Given the description of an element on the screen output the (x, y) to click on. 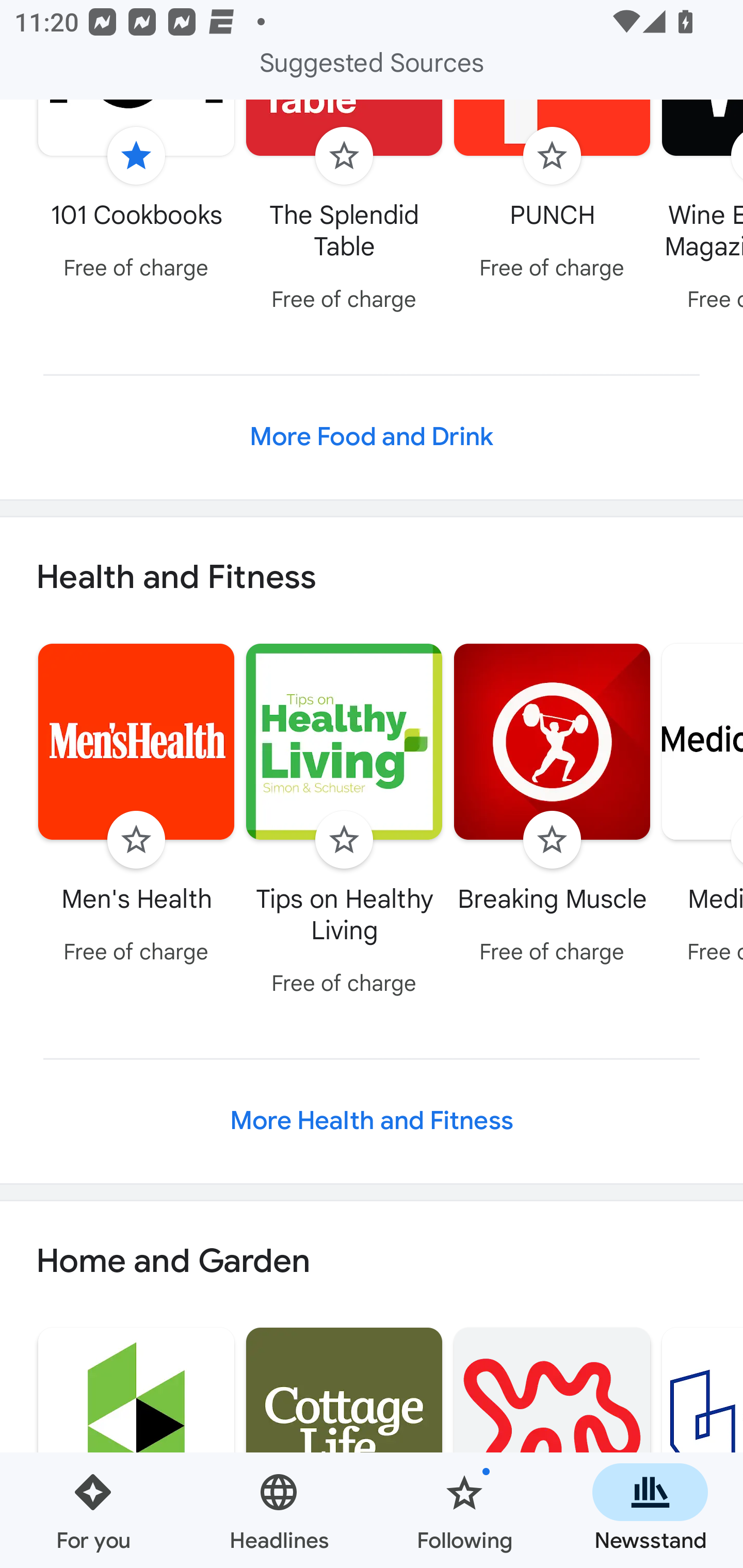
Unfollow 101 Cookbooks Free of charge (136, 194)
Follow The Splendid Table Free of charge (344, 210)
Follow PUNCH Free of charge (552, 194)
Unfollow (135, 156)
Follow (343, 156)
Follow (552, 156)
More Food and Drink (371, 436)
Health and Fitness (371, 577)
Follow Men's Health Free of charge (136, 806)
Follow Tips on Healthy Living Free of charge (344, 822)
Follow Breaking Muscle Free of charge (552, 806)
Follow (135, 839)
Follow (343, 839)
Follow (552, 839)
More Health and Fitness (371, 1120)
Home and Garden (371, 1261)
For you (92, 1509)
Headlines (278, 1509)
Following (464, 1509)
Newsstand (650, 1509)
